Given the description of an element on the screen output the (x, y) to click on. 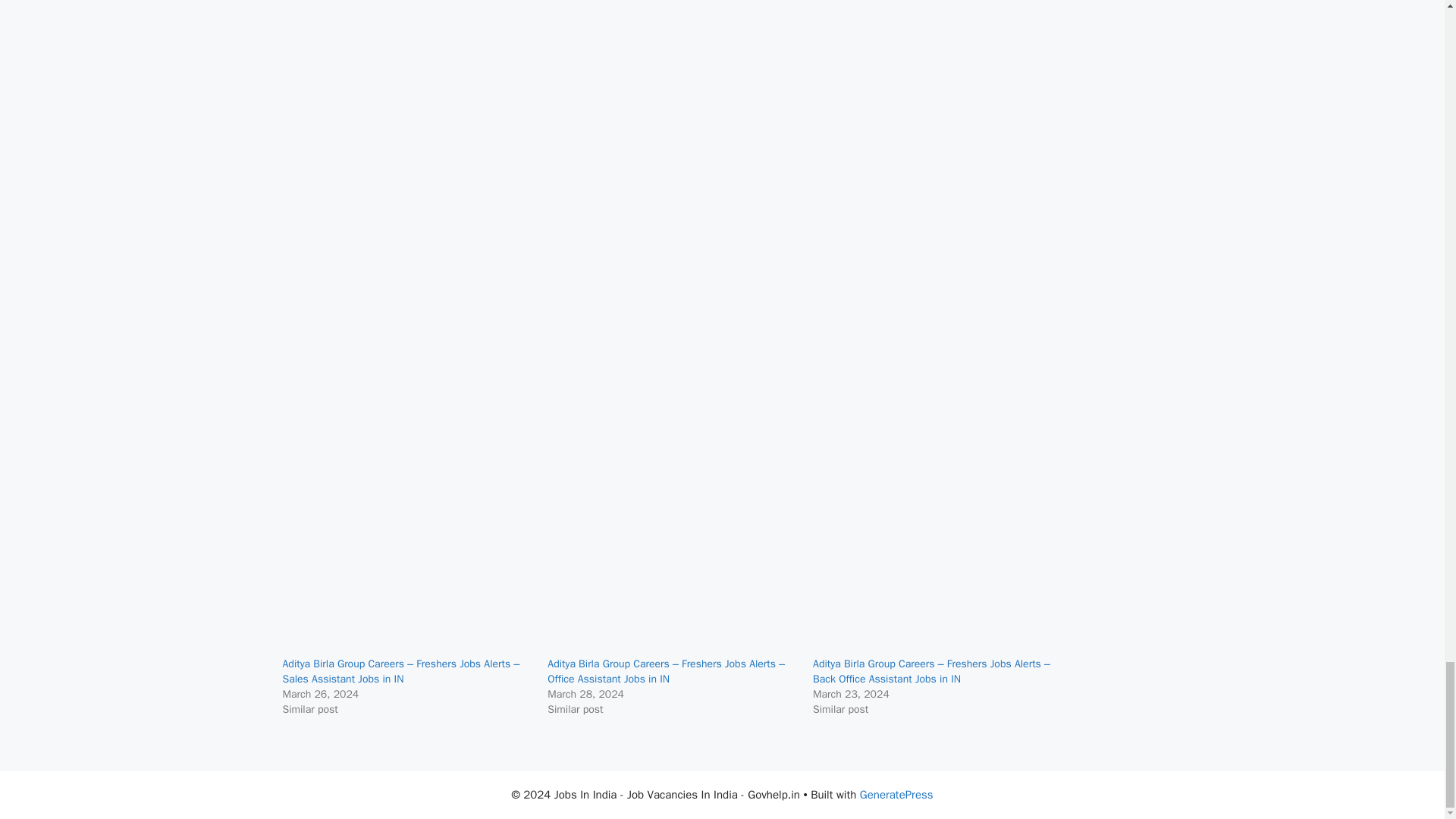
GeneratePress (896, 794)
